Given the description of an element on the screen output the (x, y) to click on. 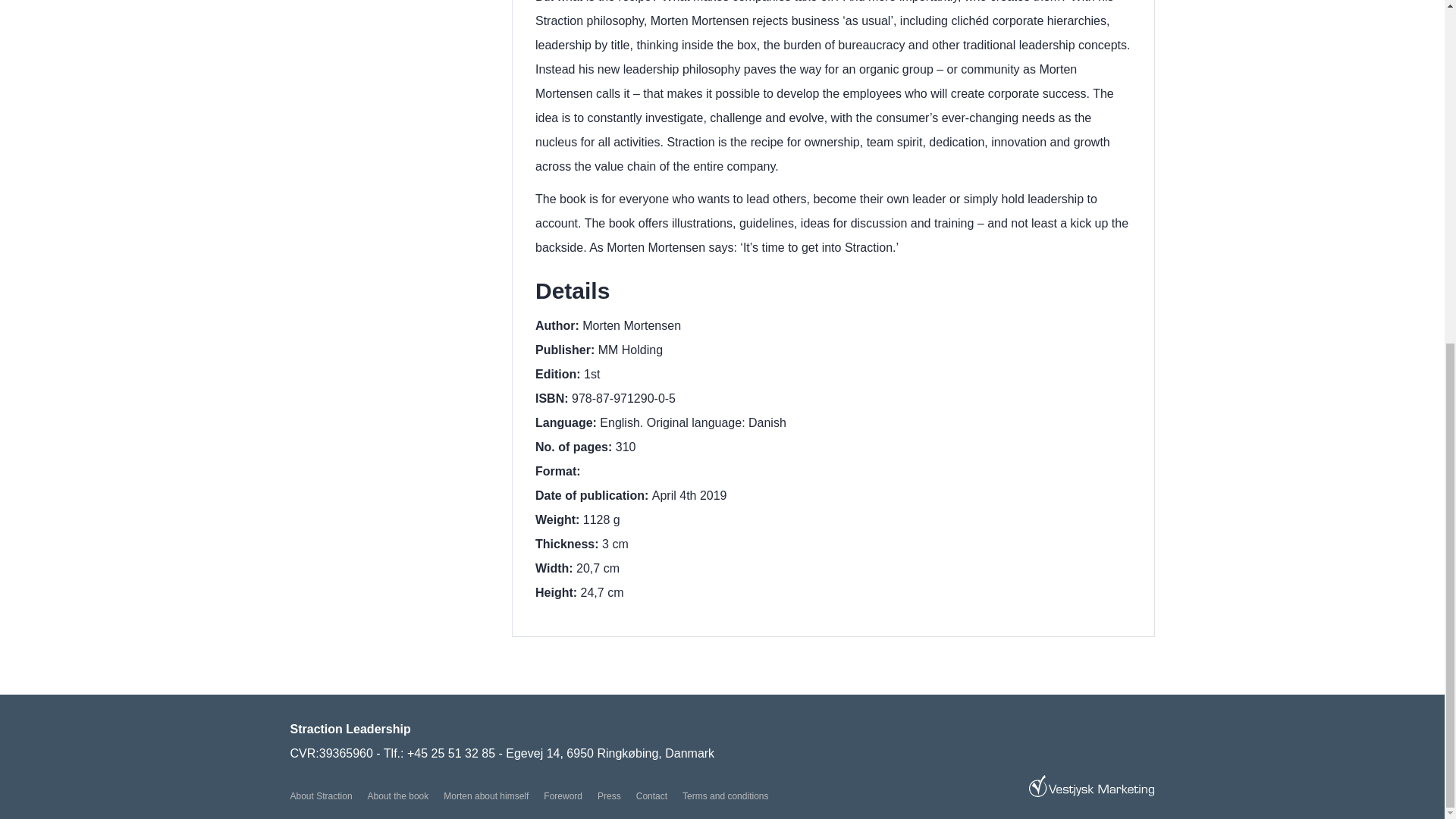
Press (608, 796)
Foreword (562, 796)
Contact (651, 796)
Morten about himself (486, 796)
Terms and conditions (725, 796)
About Straction (320, 796)
About the book (398, 796)
